Given the description of an element on the screen output the (x, y) to click on. 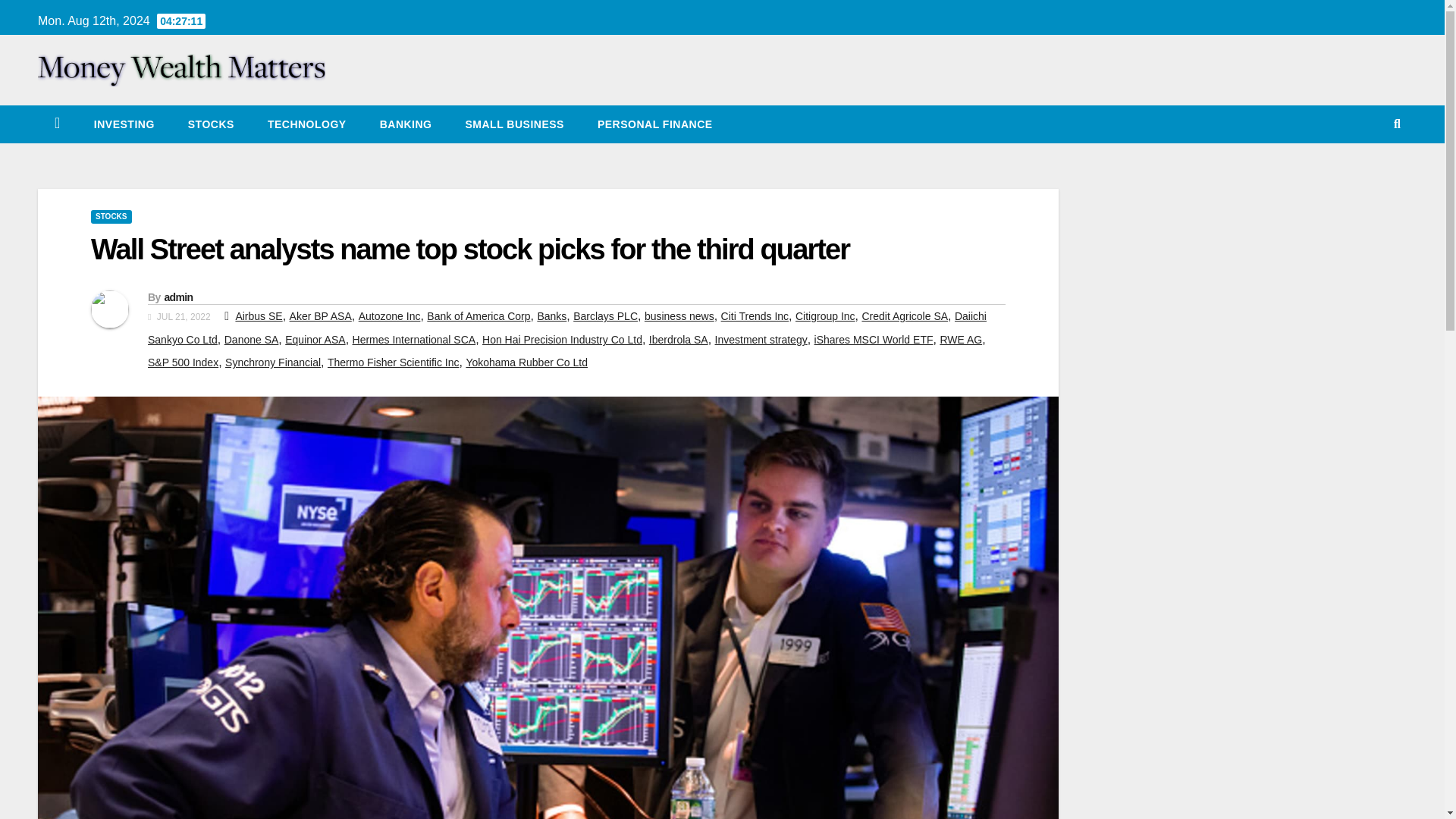
Citigroup Inc (825, 316)
Aker BP ASA (320, 316)
Technology (306, 124)
Banking (405, 124)
admin (177, 297)
Stocks (210, 124)
Bank of America Corp (477, 316)
Hon Hai Precision Industry Co Ltd (561, 339)
Autozone Inc (389, 316)
Investment strategy (761, 339)
